Given the description of an element on the screen output the (x, y) to click on. 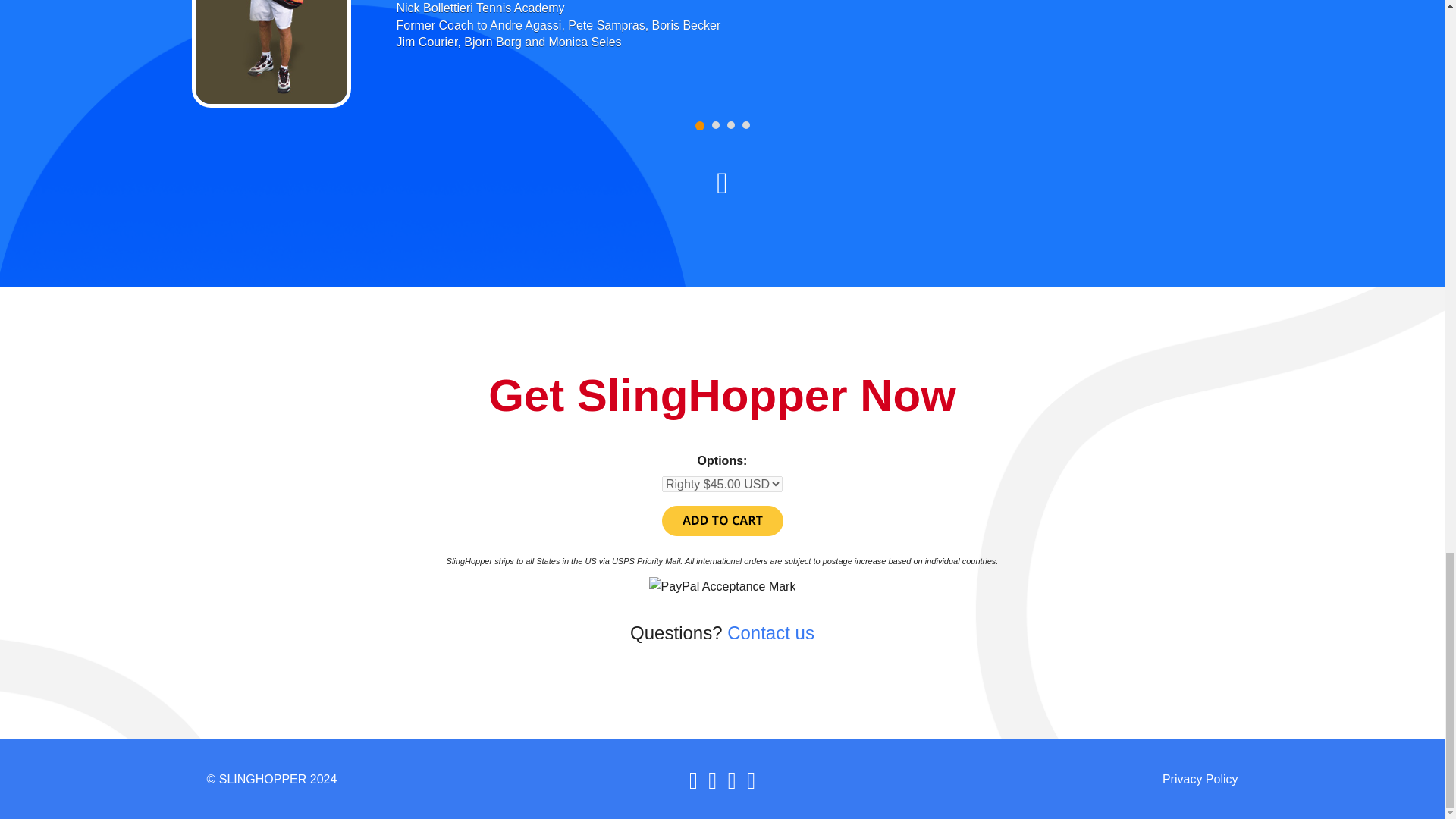
4 (745, 124)
1 (698, 125)
Privacy Policy (1200, 779)
3 (729, 124)
How PayPal Works (722, 585)
2 (715, 124)
Contact us (769, 632)
